Given the description of an element on the screen output the (x, y) to click on. 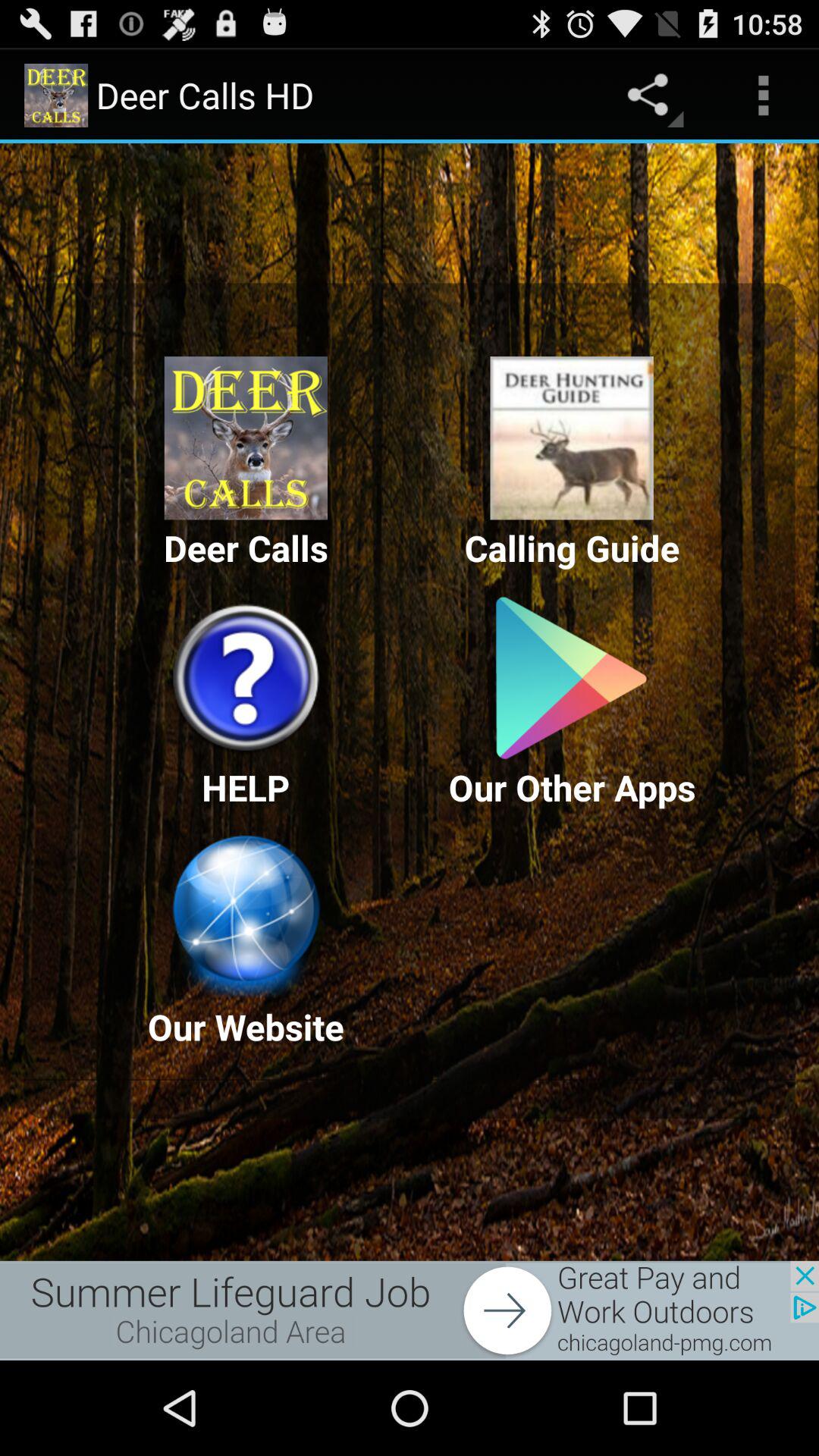
go to advertisement source (409, 1310)
